Given the description of an element on the screen output the (x, y) to click on. 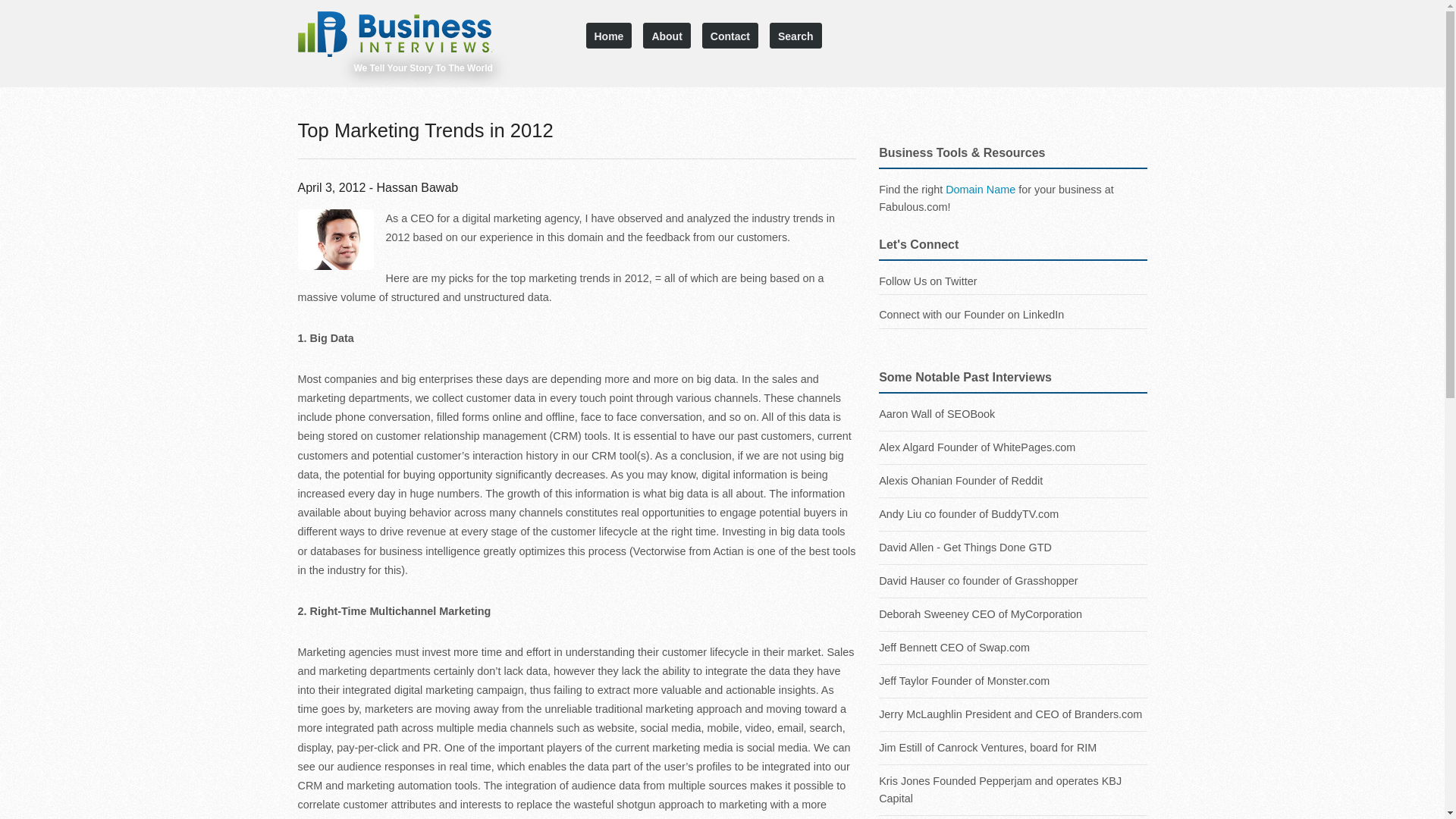
Alexis Ohanian Founder of Reddit (1013, 480)
Jerry McLaughlin President and CEO of Branders.com (1013, 714)
David Allen - Get Things Done GTD (1013, 547)
Connect with our Founder on LinkedIn (971, 314)
Aaron Wall of SEOBook (1013, 326)
Home (608, 35)
Domain Name (979, 189)
Search (796, 35)
Contact (729, 35)
About (666, 35)
Jim Estill of Canrock Ventures, board for RIM (1013, 747)
Kris Jones Founded Pepperjam and operates KBJ Capital (1013, 790)
Follow Us on Twitter (927, 281)
David Hauser co founder of Grasshopper (1013, 580)
Alex Algard Founder of WhitePages.com (1013, 447)
